Given the description of an element on the screen output the (x, y) to click on. 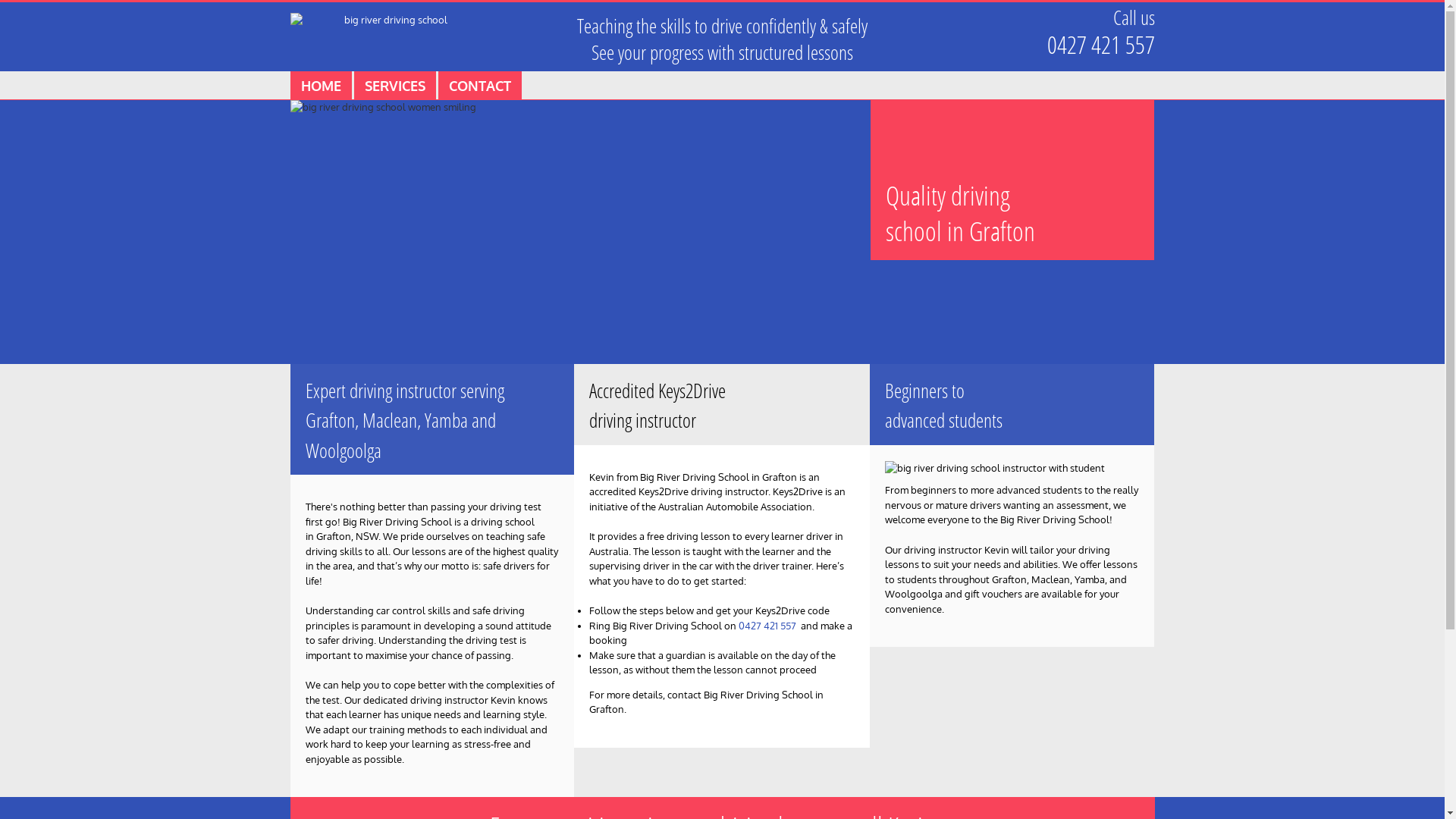
big river driving school women smiling Element type: hover (579, 232)
HOME Element type: text (320, 85)
big river driving school instructor with student Element type: hover (1007, 468)
0427 421 557 Element type: text (767, 625)
0427 421 557 Element type: text (1100, 44)
big river driving school Element type: hover (389, 21)
SERVICES Element type: text (394, 85)
CONTACT Element type: text (479, 85)
